Given the description of an element on the screen output the (x, y) to click on. 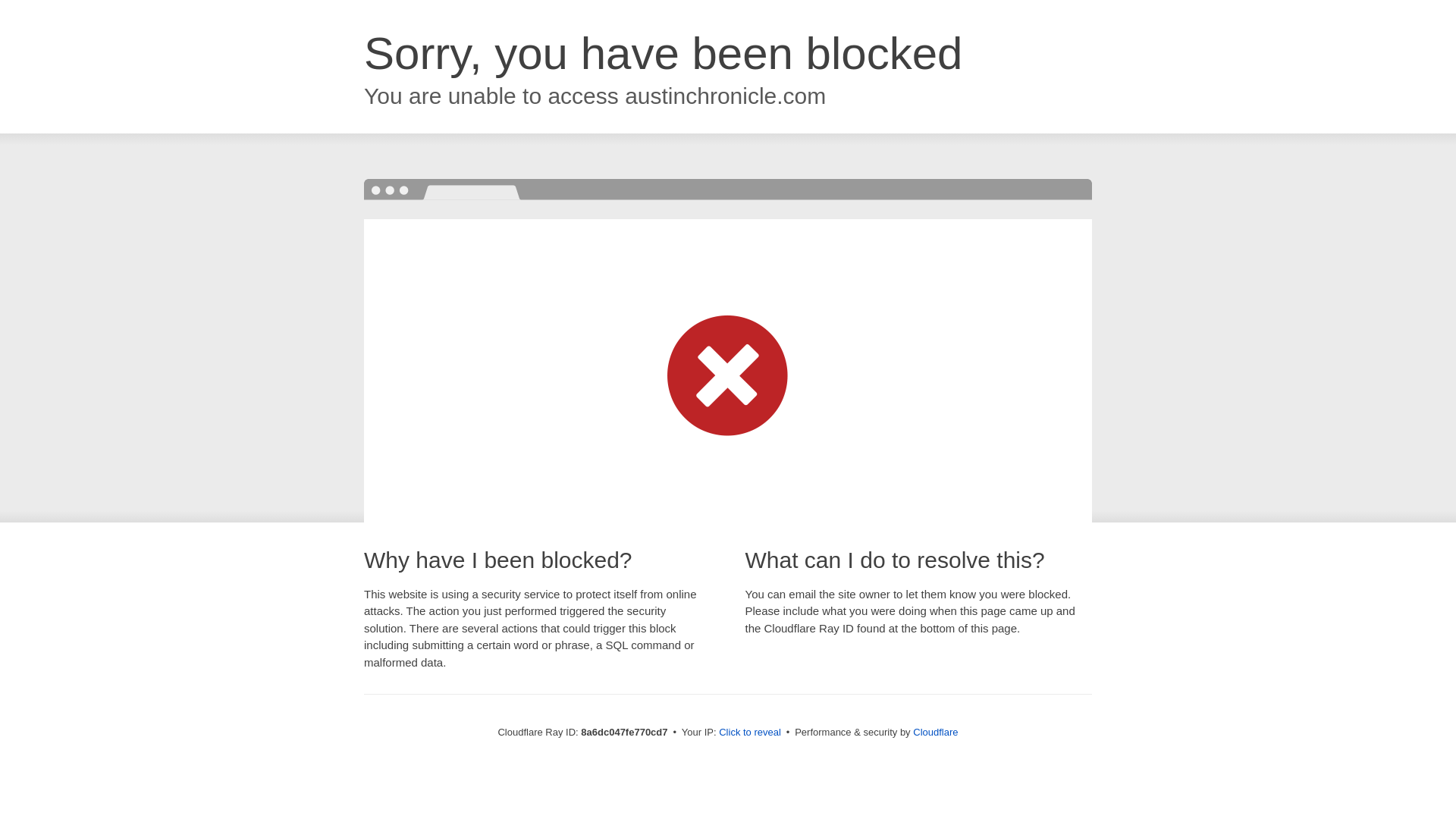
Cloudflare (935, 731)
Click to reveal (749, 732)
